Given the description of an element on the screen output the (x, y) to click on. 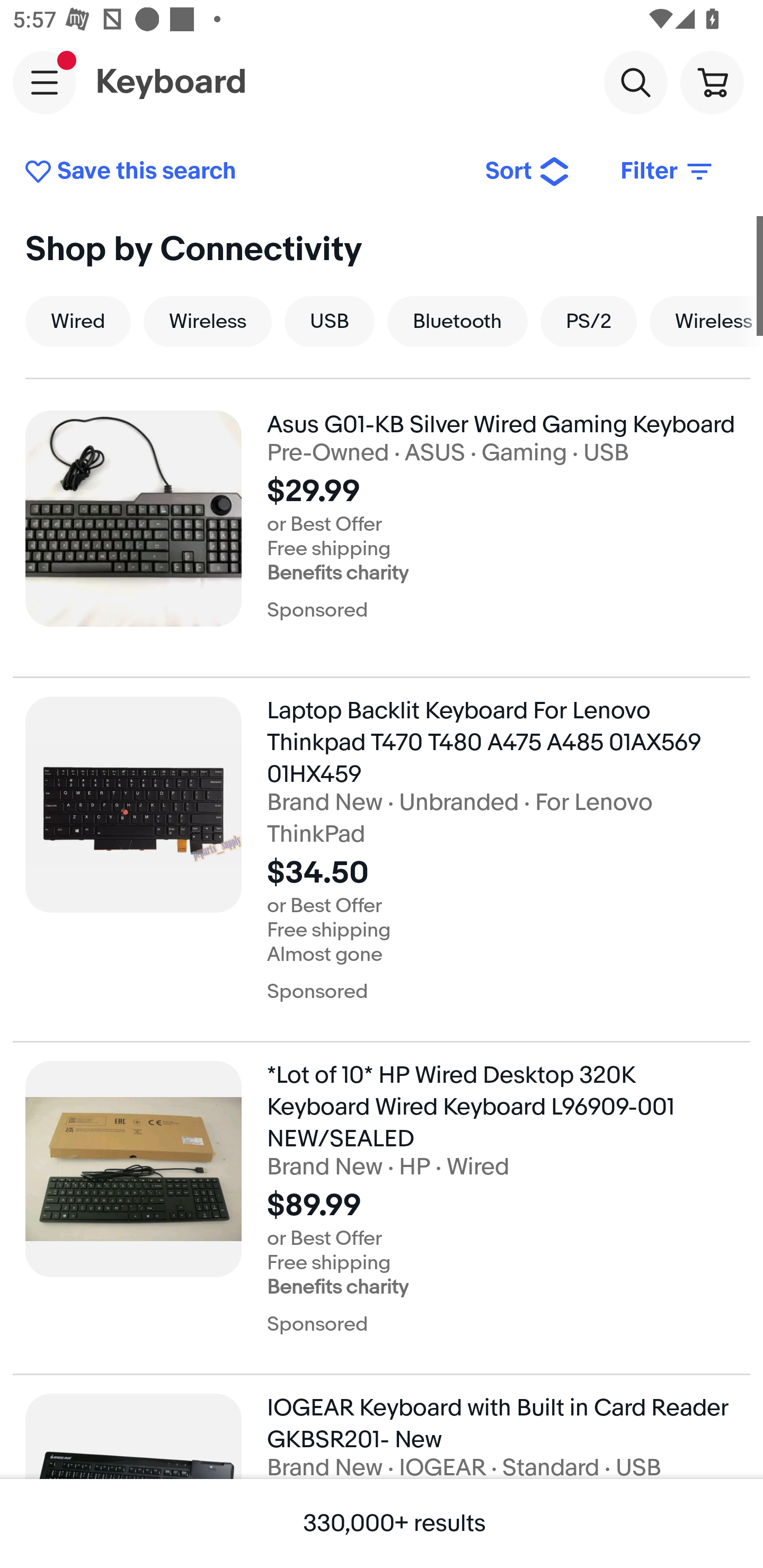
Main navigation, notification is pending, open (44, 82)
Search (635, 81)
Cart button shopping cart (711, 81)
Save this search (241, 171)
Sort (527, 171)
Filter (667, 171)
Wired Wired, Connectivity (78, 321)
Wireless Wireless, Connectivity (207, 321)
USB USB, Connectivity (329, 321)
Bluetooth Bluetooth, Connectivity (457, 321)
PS/2 PS/2, Connectivity (588, 321)
Wireless & Wired Wireless & Wired, Connectivity (706, 321)
